Given the description of an element on the screen output the (x, y) to click on. 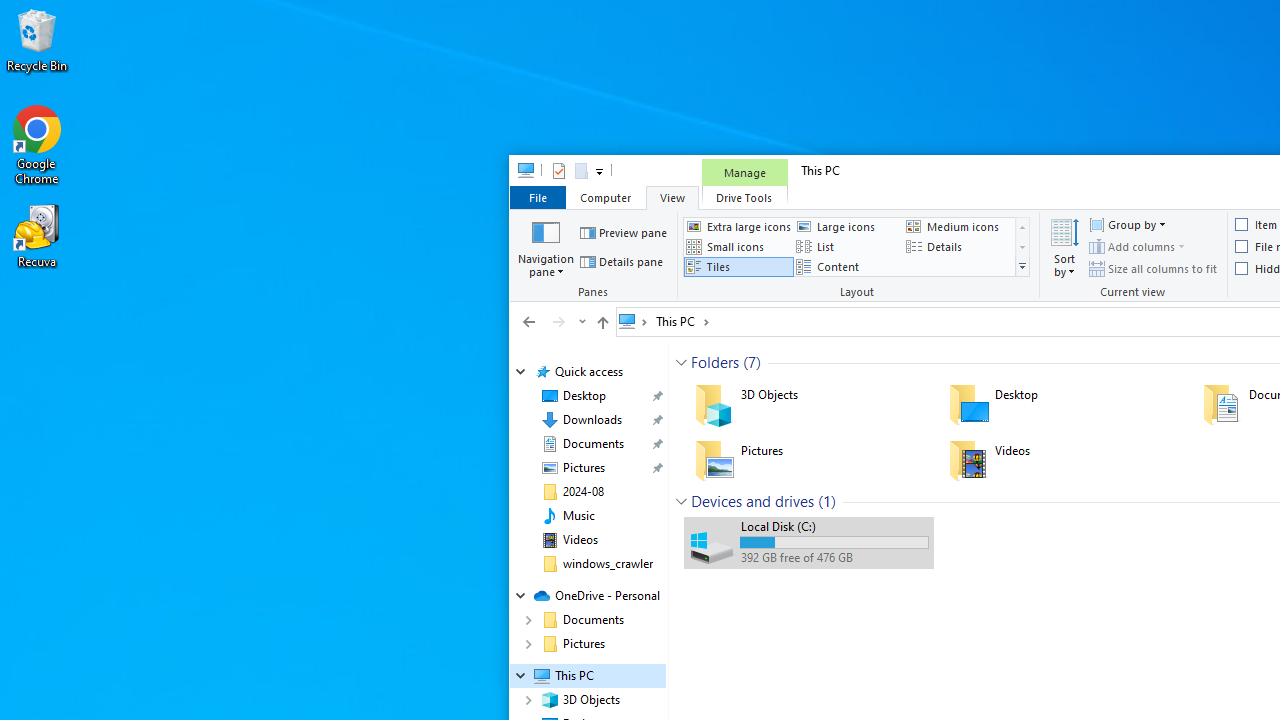
2024-08 (582, 491)
System (520, 173)
Details pane (621, 261)
Views (1022, 267)
This PC (682, 321)
Medium icons (958, 226)
Forward (Alt + Right Arrow) (558, 321)
Row up (1022, 227)
Documents (pinned) (592, 443)
All locations (633, 321)
3D Objects (808, 403)
Local Disk (C:) (808, 542)
Music (578, 515)
Drive Tools (744, 196)
Panes (596, 255)
